Given the description of an element on the screen output the (x, y) to click on. 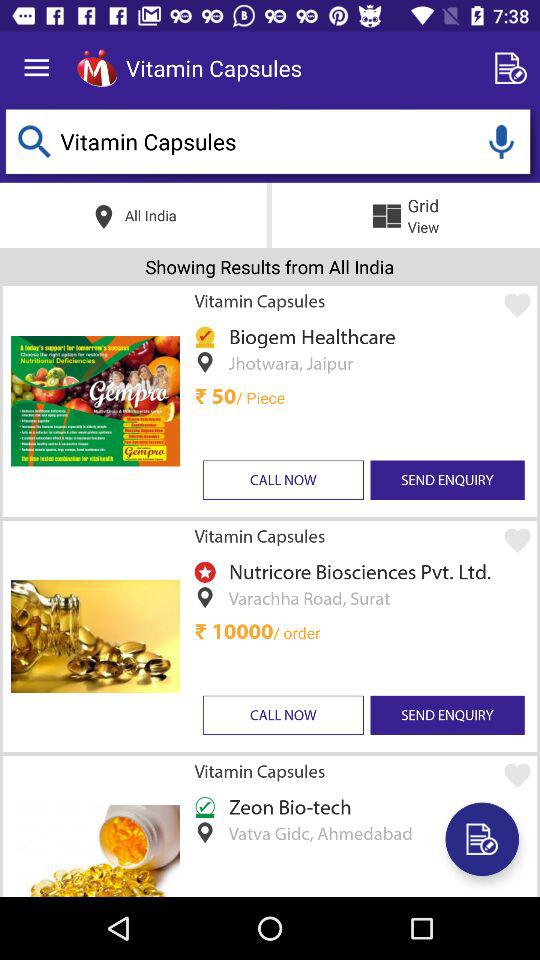
launch zeon bio-tech item (286, 806)
